Given the description of an element on the screen output the (x, y) to click on. 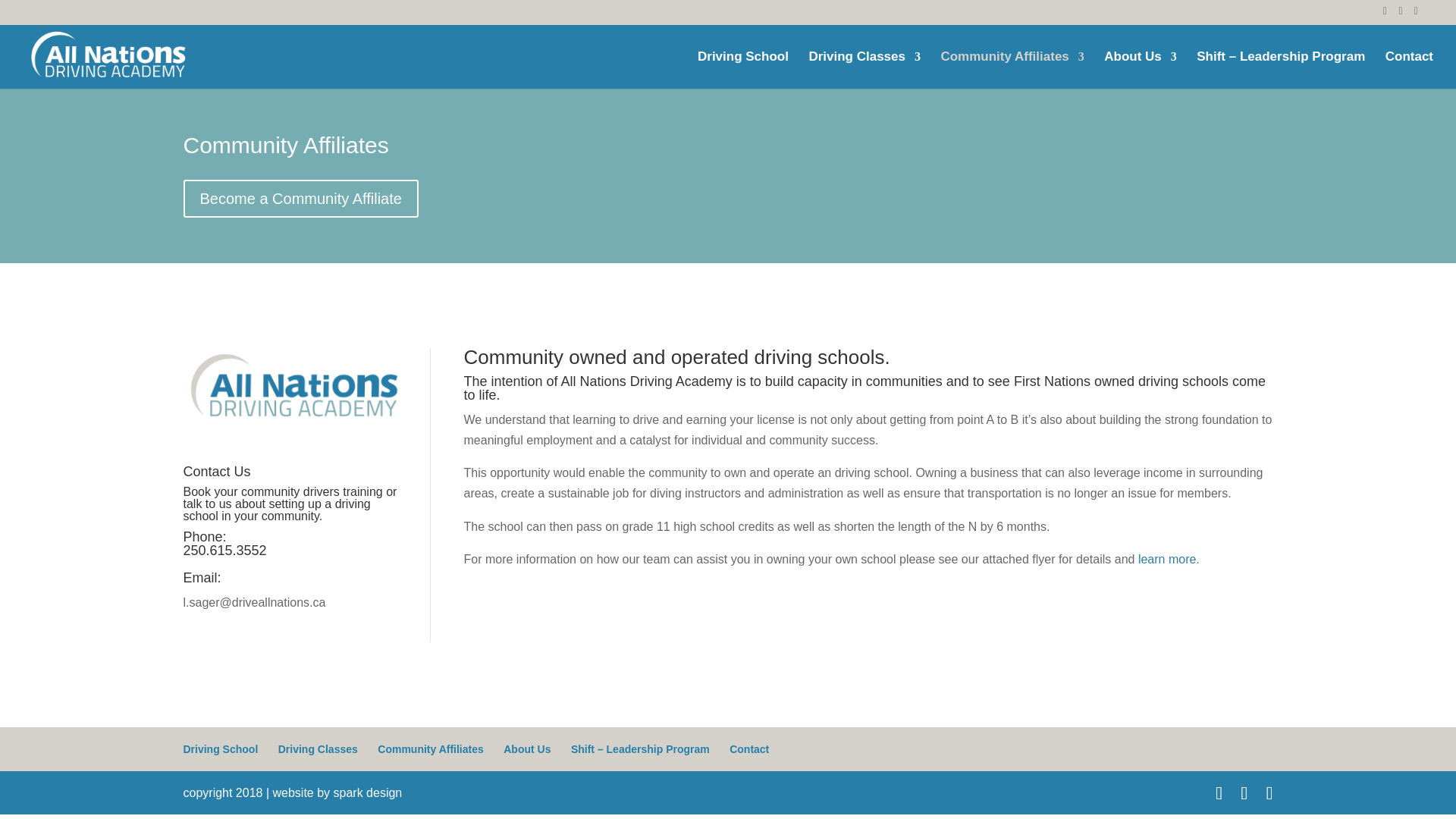
Driving School (743, 69)
learn more. (1168, 558)
Become a Community Affiliate (301, 198)
About Us (1139, 69)
Community Affiliates (1011, 69)
Driving Classes (318, 748)
Driving Classes (864, 69)
Contact (1409, 69)
Driving School (221, 748)
